Given the description of an element on the screen output the (x, y) to click on. 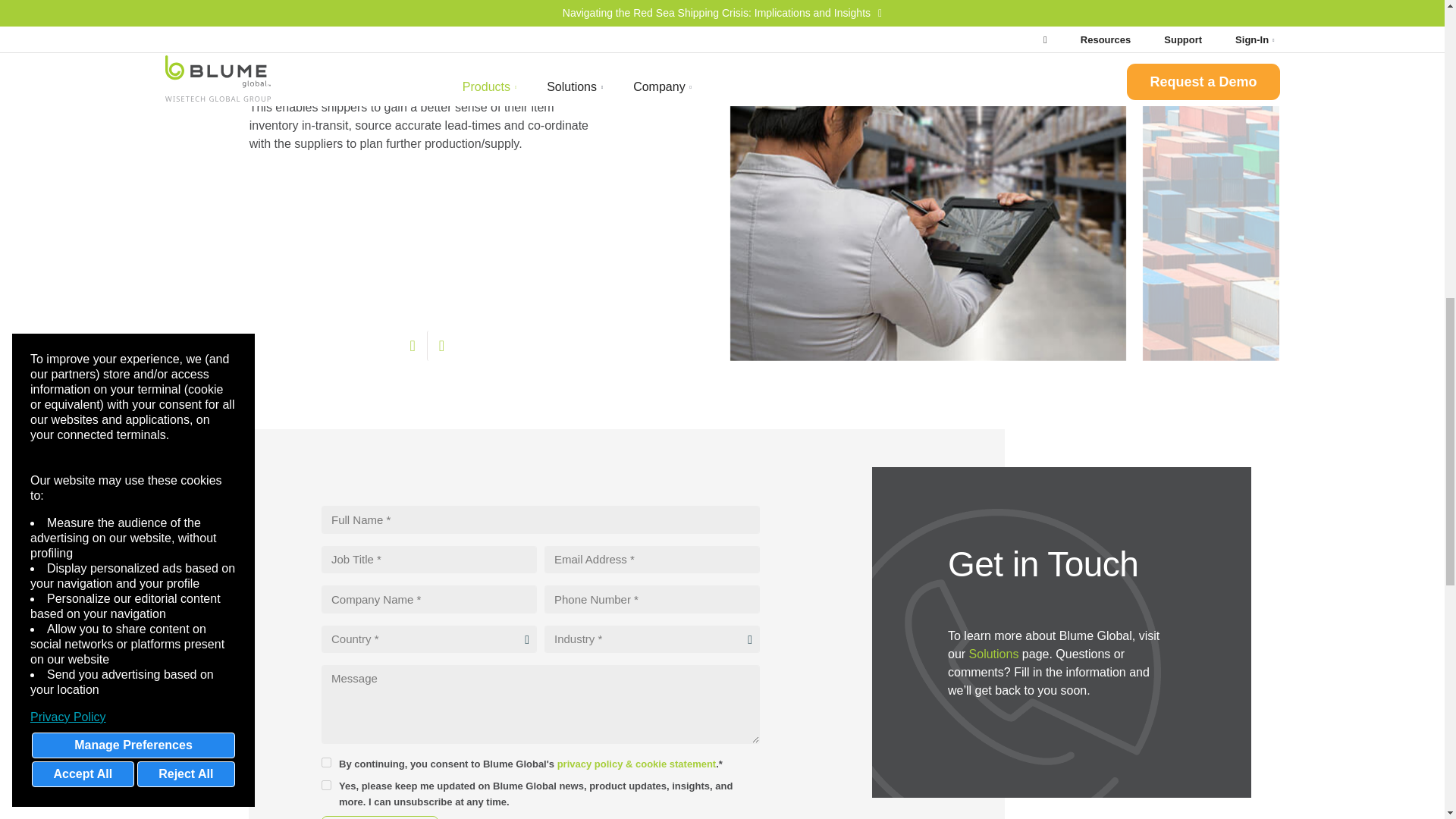
Solutions (994, 653)
